Given the description of an element on the screen output the (x, y) to click on. 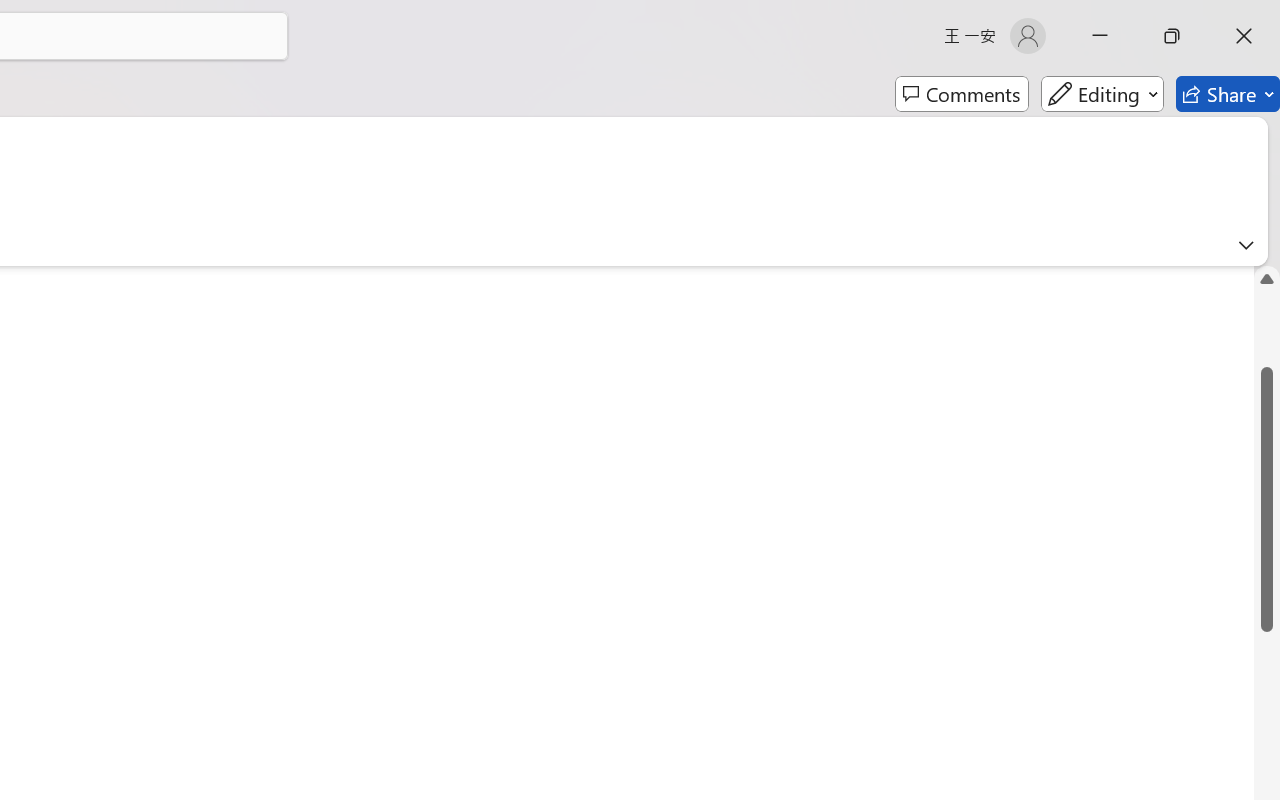
Line up (1267, 278)
Restore Down (1172, 36)
Close (1244, 36)
Minimize (1099, 36)
Share (1228, 94)
Editing (1101, 94)
Ribbon Display Options (1246, 245)
Comments (961, 94)
Page up (1267, 329)
